Given the description of an element on the screen output the (x, y) to click on. 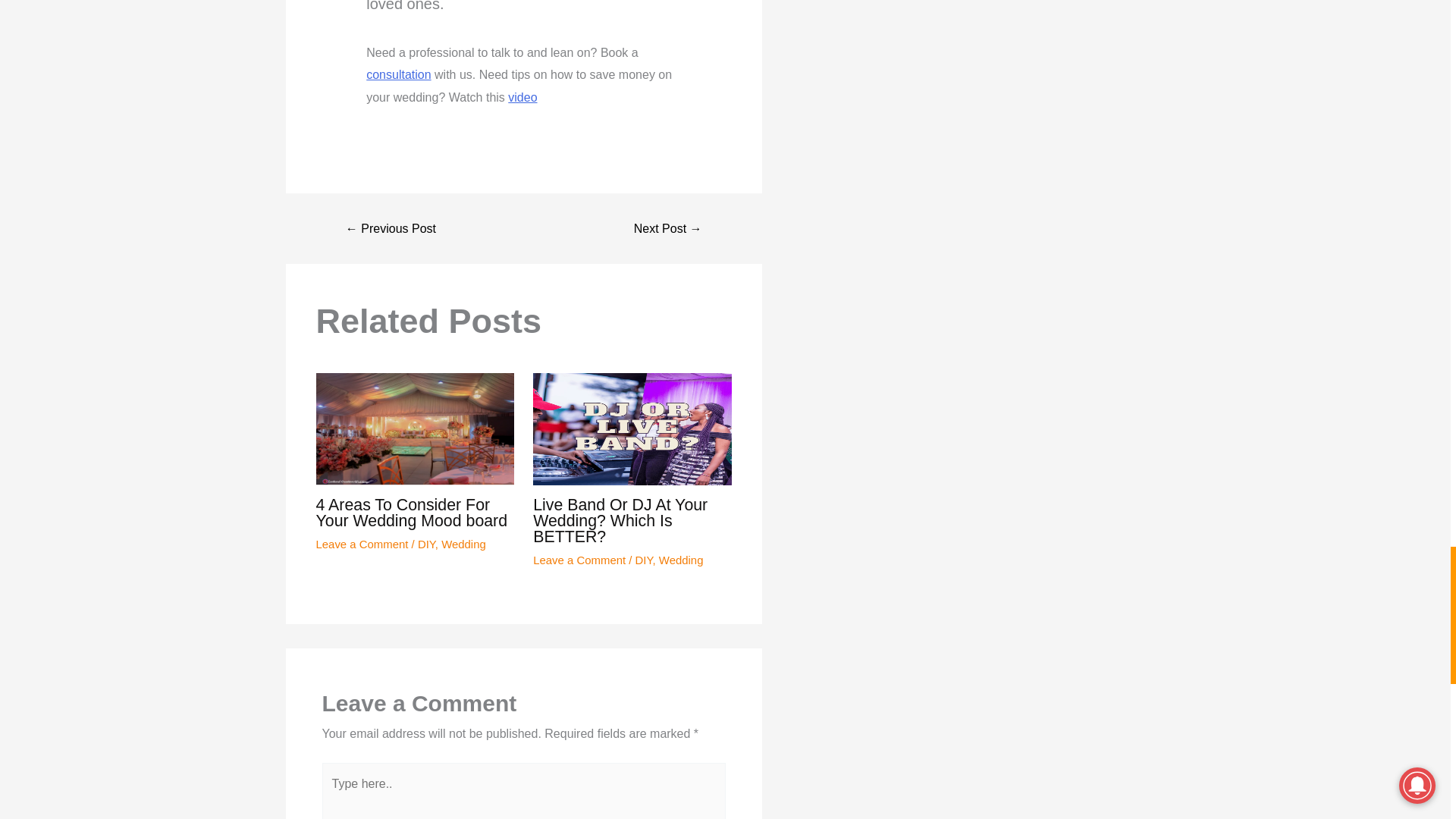
Leave a Comment (361, 543)
Wedding (463, 543)
4 Areas To Consider For Your Wedding Mood board (410, 512)
Leave a Comment (579, 559)
Wedding (681, 559)
video (522, 97)
DIY (643, 559)
Centerpieces That Would Blow Your Guest Away (667, 228)
consultation (398, 74)
DIY (426, 543)
Live Band Or DJ At Your Wedding? Which Is BETTER? (619, 521)
6 Ways To Secure Your Events Audiovisual Requirements (390, 228)
